Given the description of an element on the screen output the (x, y) to click on. 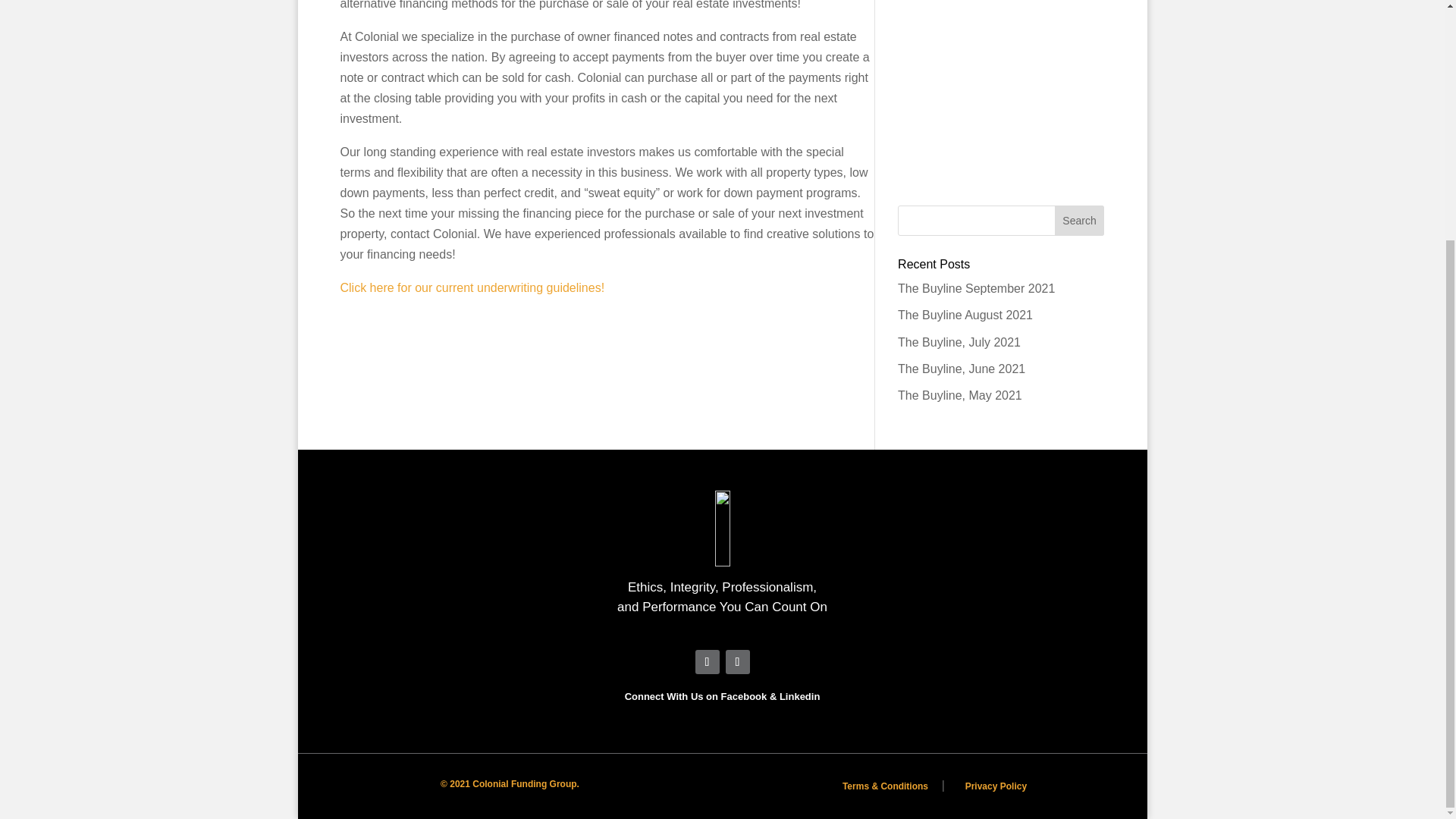
The Buyline, May 2021 (960, 395)
Privacy Policy (995, 786)
Search (1079, 220)
The Buyline August 2021 (965, 314)
Follow on LinkedIn (737, 662)
Follow on Facebook (706, 662)
Click here for our current underwriting guidelines! (471, 287)
Search (1079, 220)
The Buyline September 2021 (976, 287)
The Buyline, June 2021 (961, 368)
The Buyline, July 2021 (959, 341)
